Given the description of an element on the screen output the (x, y) to click on. 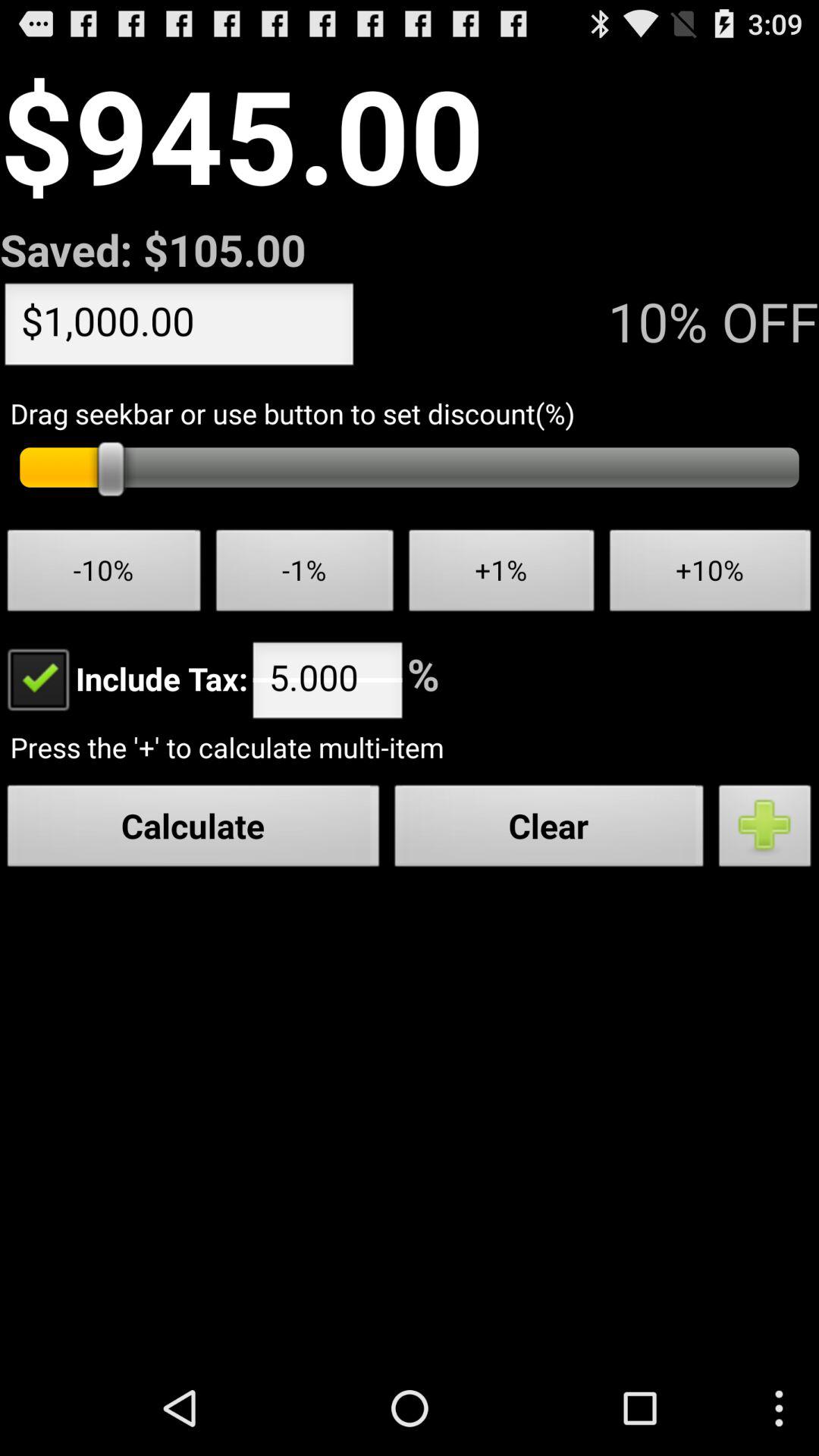
launch include tax: (123, 678)
